Given the description of an element on the screen output the (x, y) to click on. 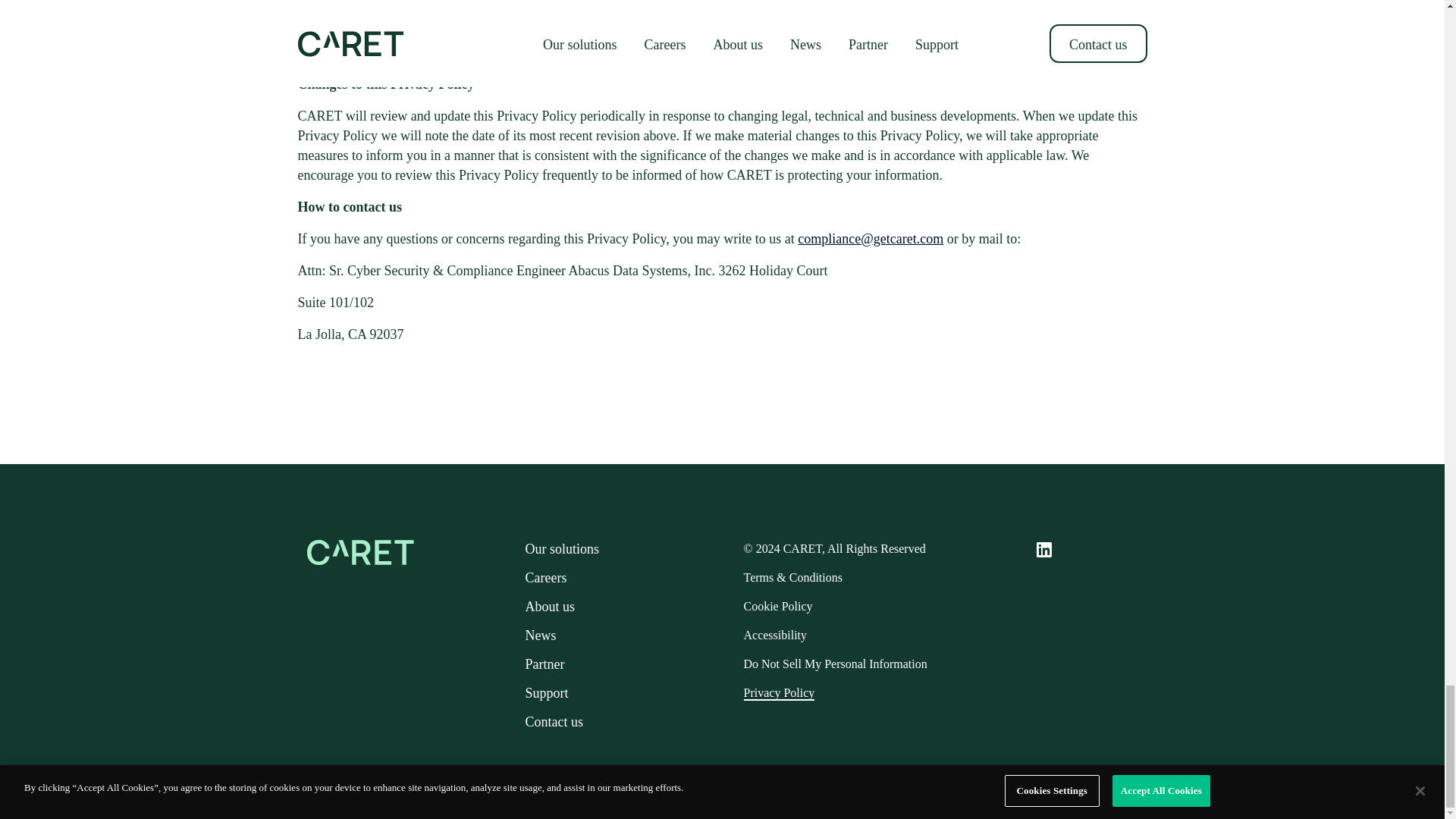
Contact us (553, 721)
Cookie Policy (777, 605)
Partner (544, 663)
Careers (545, 577)
Privacy Policy (777, 693)
Our solutions (561, 548)
About us (549, 606)
Accessibility (774, 634)
News (540, 635)
Support (545, 693)
Do Not Sell My Personal Information (834, 663)
